Given the description of an element on the screen output the (x, y) to click on. 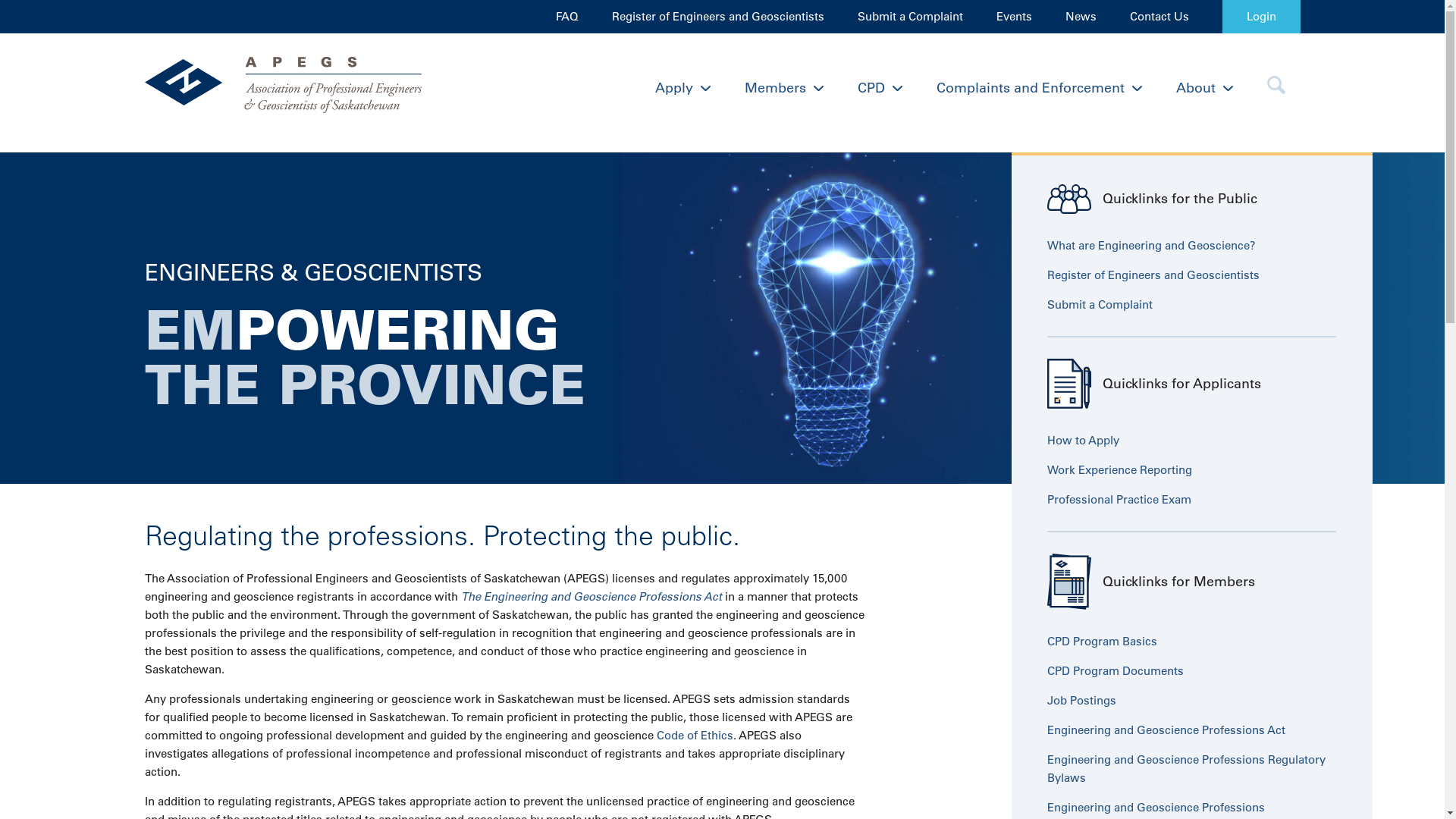
Code of Ethics Element type: text (694, 735)
CPD Program Basics Element type: text (1102, 640)
Register of Engineers and Geoscientists Element type: text (1153, 274)
CPD Element type: text (878, 88)
Engineering and Geoscience Professions Act Element type: text (1166, 729)
Register of Engineers and Geoscientists Element type: text (717, 16)
Contact Us Element type: text (1159, 16)
News Element type: text (1079, 16)
Professional Practice Exam Element type: text (1119, 499)
Events Element type: text (1014, 16)
Login Element type: text (1261, 16)
How to Apply Element type: text (1083, 440)
APEGS Element type: hover (288, 87)
Job Postings Element type: text (1081, 700)
Submit a Complaint Element type: text (909, 16)
Work Experience Reporting Element type: text (1119, 469)
FAQ Element type: text (566, 16)
What are Engineering and Geoscience? Element type: text (1151, 245)
Engineering and Geoscience Professions Regulatory Bylaws Element type: text (1186, 768)
CPD Program Documents Element type: text (1115, 670)
Members Element type: text (783, 88)
Complaints and Enforcement Element type: text (1038, 88)
About Element type: text (1203, 88)
The Engineering and Geoscience Professions Act Element type: text (591, 596)
Submit a Complaint Element type: text (1099, 304)
Apply Element type: text (682, 88)
